Given the description of an element on the screen output the (x, y) to click on. 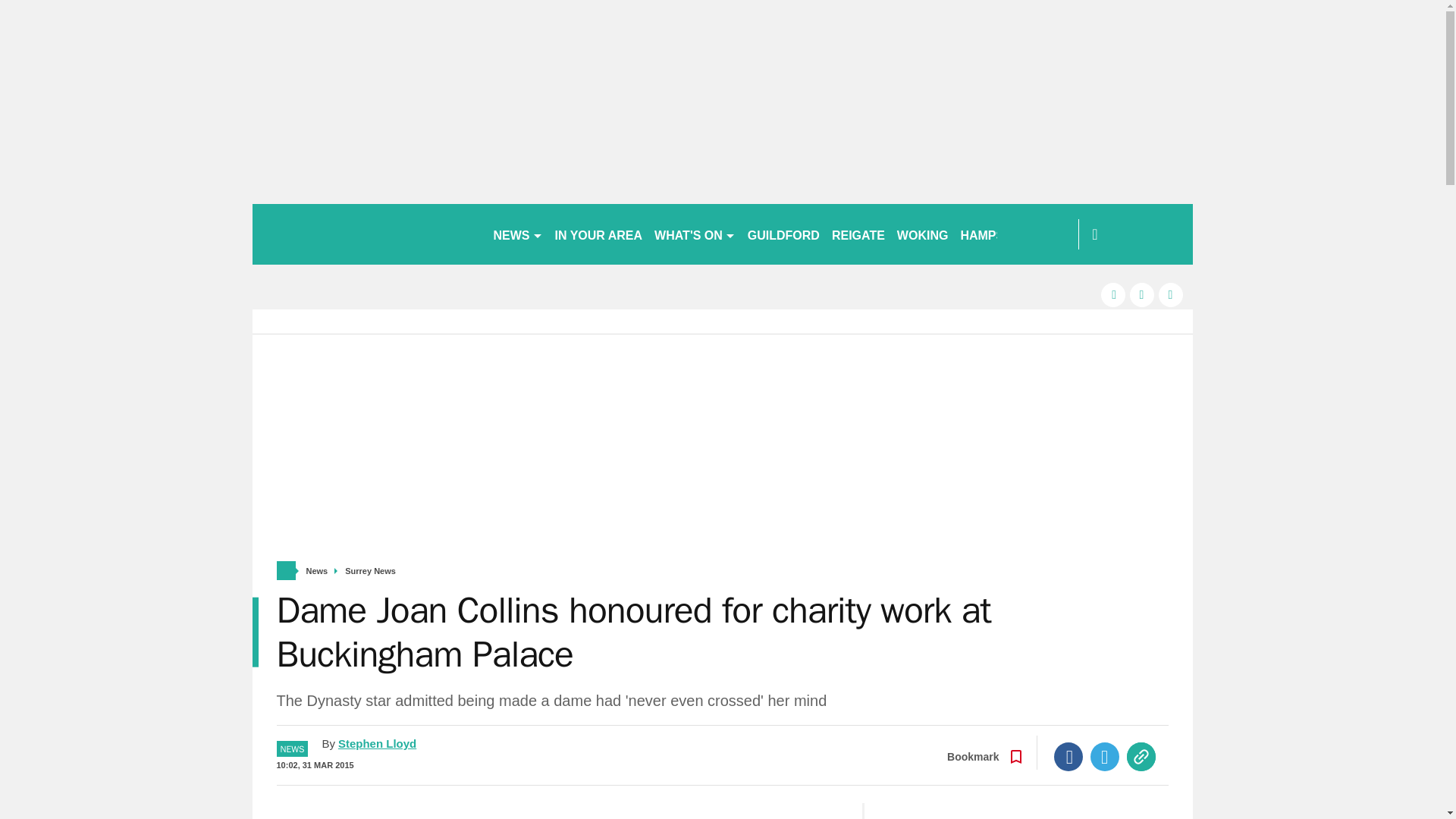
facebook (1112, 294)
NEWS (517, 233)
WOKING (923, 233)
instagram (1170, 294)
IN YOUR AREA (598, 233)
getsurrey (365, 233)
HAMPSHIRE (996, 233)
Twitter (1104, 756)
Facebook (1068, 756)
GUILDFORD (783, 233)
